Given the description of an element on the screen output the (x, y) to click on. 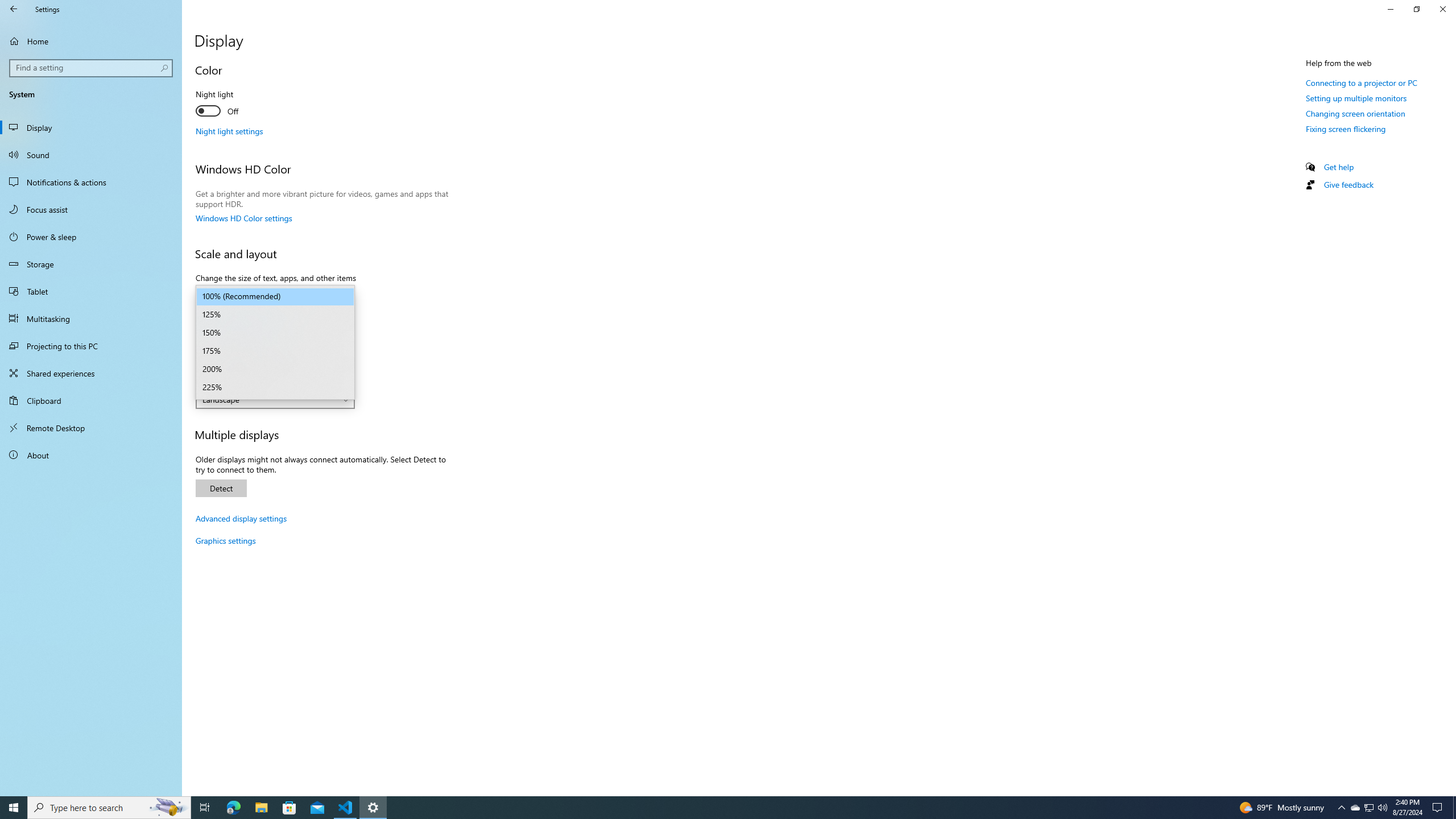
Detect (221, 488)
175% (274, 351)
Setting up multiple monitors (1356, 97)
Notifications & actions (91, 181)
Night light (237, 104)
125% (274, 315)
Sound (91, 154)
